Given the description of an element on the screen output the (x, y) to click on. 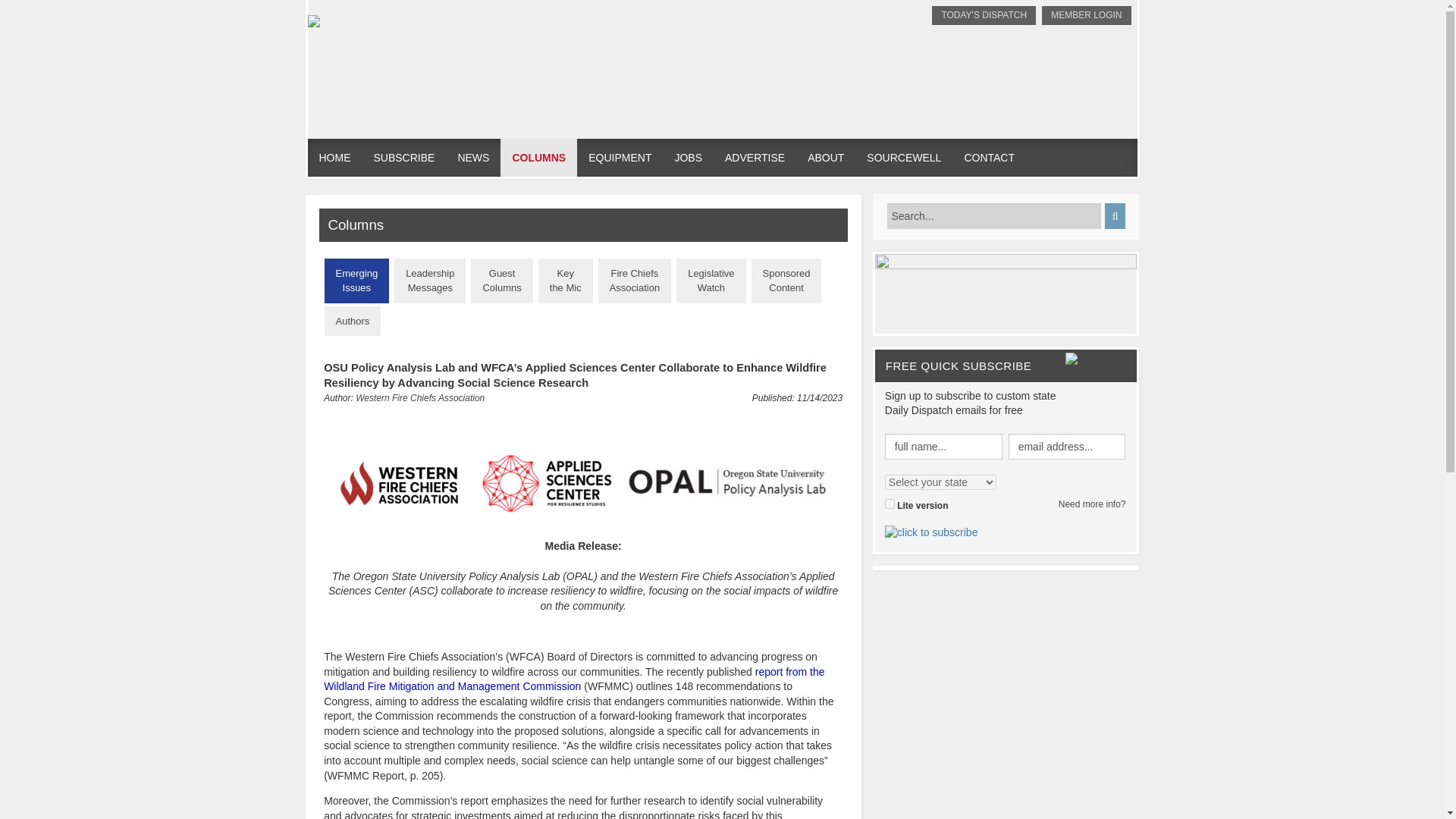
NEWS (472, 157)
CONTACT (989, 157)
EQUIPMENT (619, 157)
MEMBER LOGIN (1086, 15)
HOME (334, 157)
on (890, 503)
TODAY'S DISPATCH (983, 15)
SUBSCRIBE (404, 157)
email address... (1067, 446)
